Given the description of an element on the screen output the (x, y) to click on. 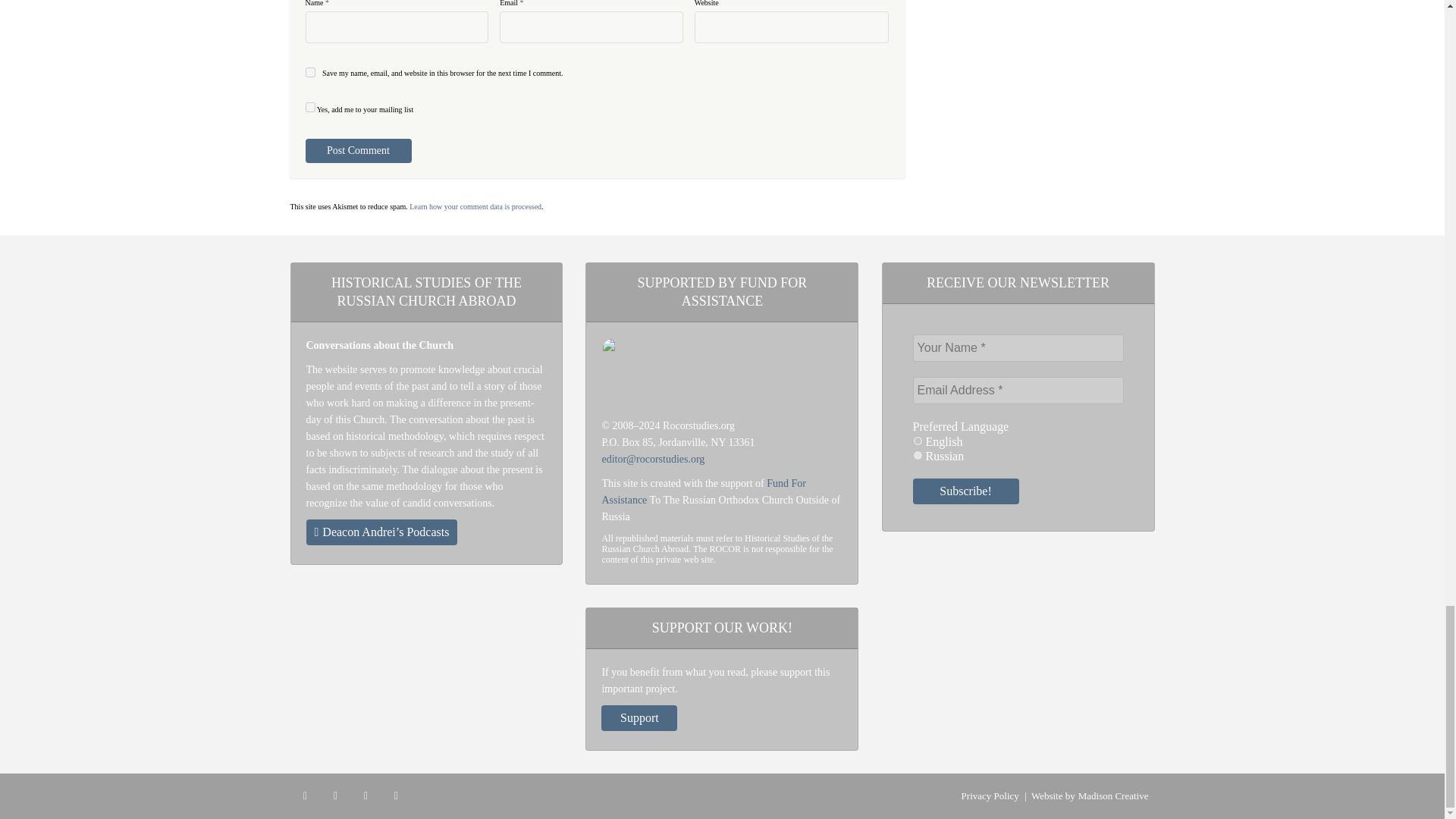
1 (309, 107)
Post Comment (357, 150)
Subscribe! (965, 491)
English (917, 440)
yes (309, 71)
Russian (917, 455)
